Given the description of an element on the screen output the (x, y) to click on. 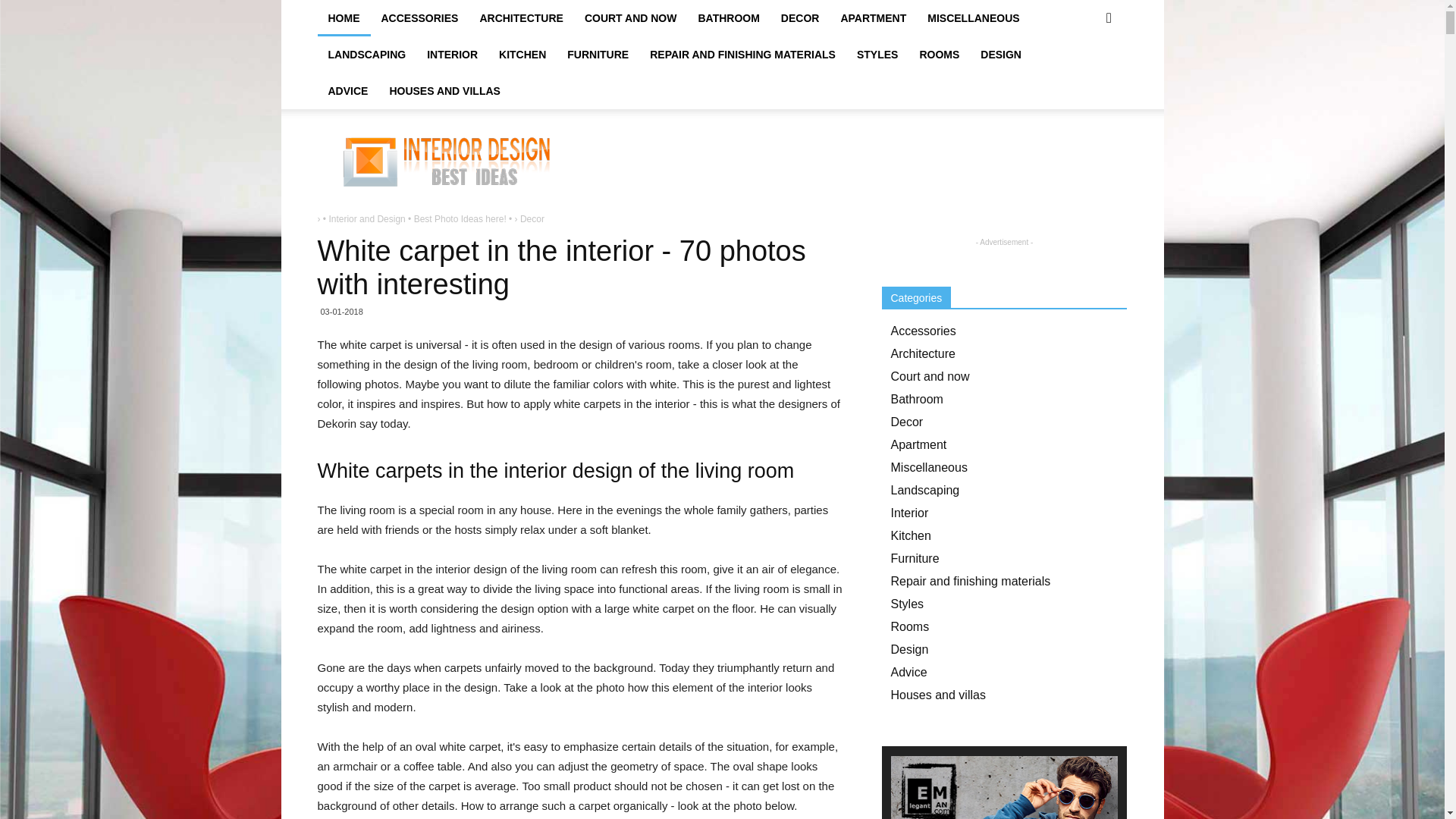
KITCHEN (521, 54)
BATHROOM (728, 18)
INTERIOR (451, 54)
FURNITURE (597, 54)
LANDSCAPING (366, 54)
APARTMENT (873, 18)
HOME (343, 18)
REPAIR AND FINISHING MATERIALS (742, 54)
ACCESSORIES (418, 18)
DECOR (799, 18)
COURT AND NOW (630, 18)
MISCELLANEOUS (973, 18)
ARCHITECTURE (520, 18)
